Given the description of an element on the screen output the (x, y) to click on. 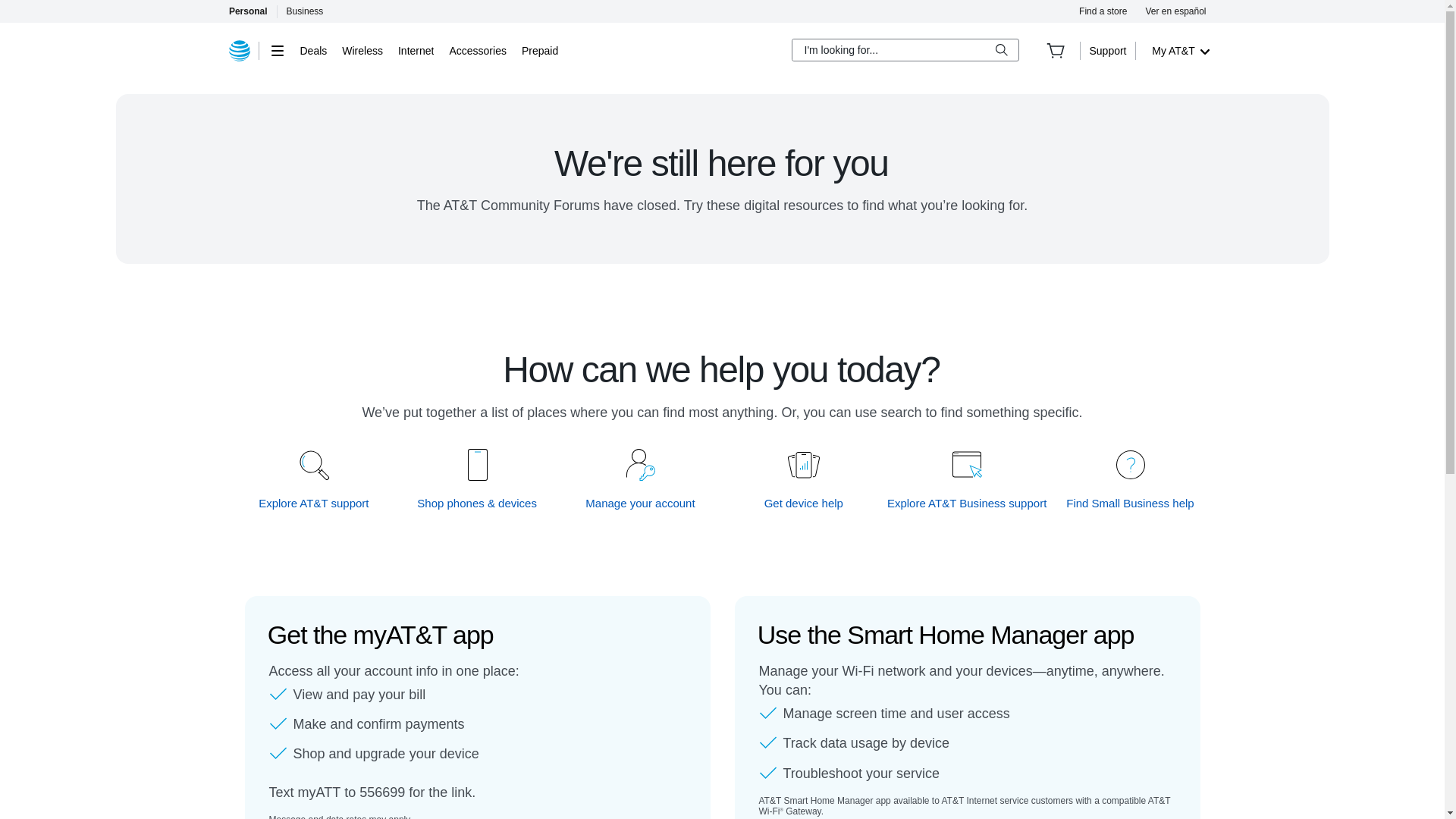
Accessories (476, 50)
Support (1107, 50)
Manage your account (640, 503)
Wireless (362, 50)
Get device help (803, 503)
Support (1107, 50)
Internet (415, 50)
Prepaid (539, 50)
Personal (247, 10)
Search (1000, 50)
